Given the description of an element on the screen output the (x, y) to click on. 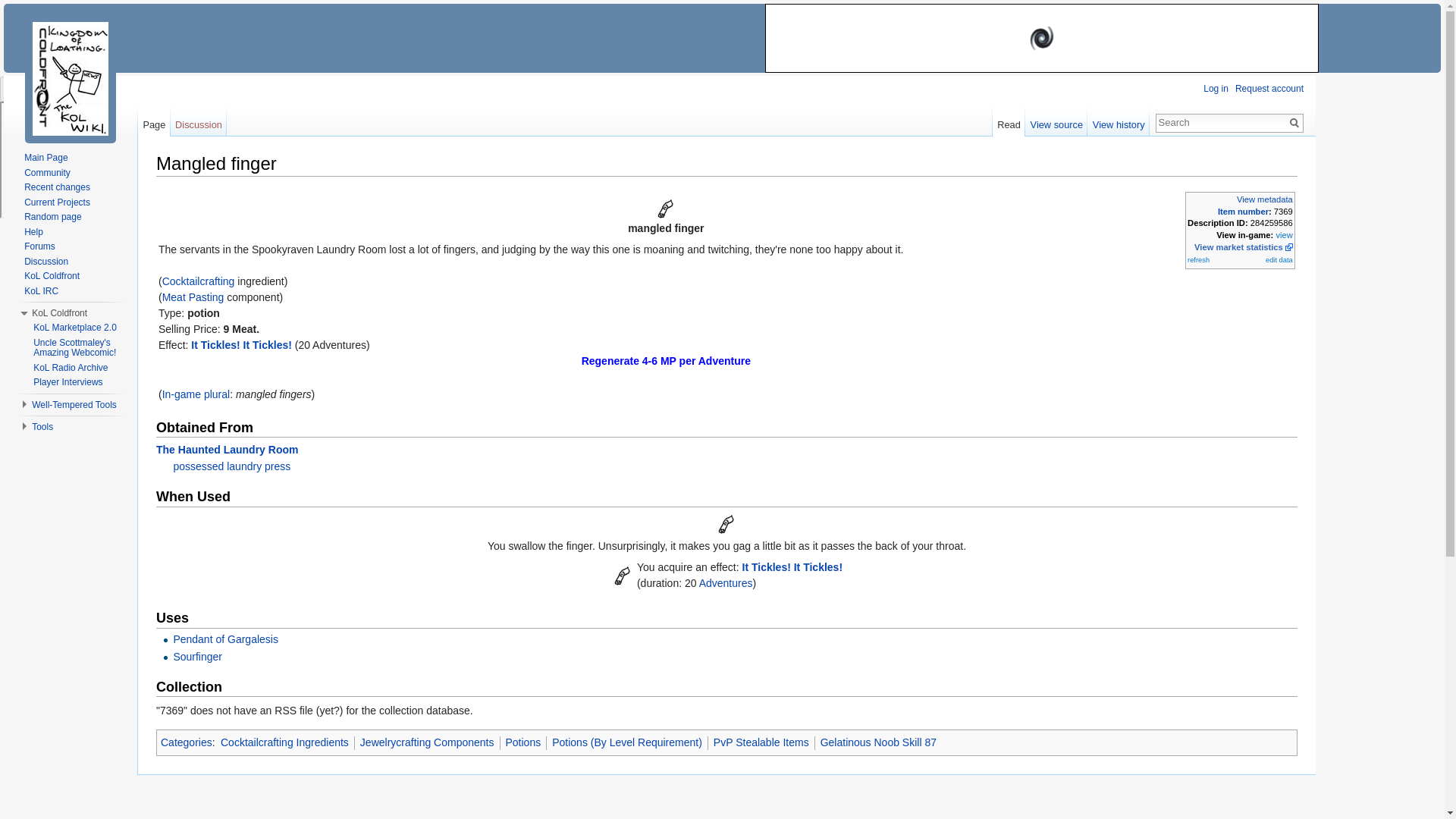
Request account (1268, 88)
Cocktailcrafting Ingredients (285, 742)
It Tickles! It Tickles! (241, 345)
It Tickles! It Tickles! (792, 567)
Category:Unrecognized Plurals (195, 394)
Sourfinger (197, 656)
Cocktailcrafting (197, 281)
In-game plural (195, 394)
Log in (1216, 88)
The Haunted Laundry Room (226, 449)
Go (1294, 122)
It Tickles! It Tickles! (622, 574)
View source (1056, 121)
Page (154, 121)
Go (1294, 122)
